Given the description of an element on the screen output the (x, y) to click on. 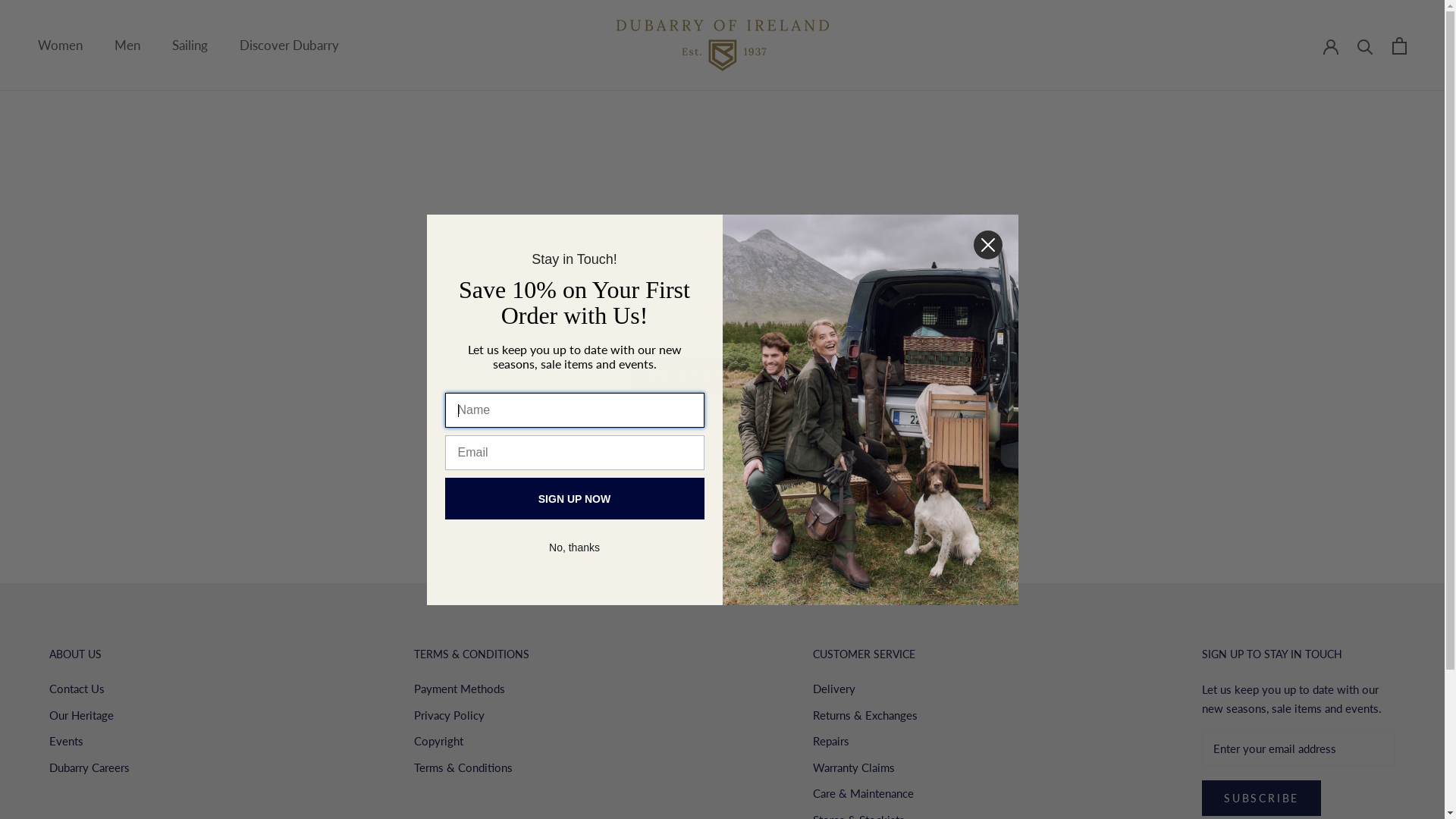
Terms & Conditions Element type: text (471, 767)
BACK TO HOMEPAGE Element type: text (722, 375)
SUBSCRIBE Element type: text (1261, 797)
Contact Us Element type: text (89, 688)
Returns & Exchanges Element type: text (864, 715)
Events Element type: text (89, 740)
Warranty Claims Element type: text (864, 767)
Discover Dubarry
Discover Dubarry Element type: text (288, 45)
Dubarry Careers Element type: text (89, 767)
Copyright Element type: text (471, 740)
Men
Men Element type: text (127, 45)
Privacy Policy Element type: text (471, 715)
Our Heritage Element type: text (89, 715)
SIGN UP NOW Element type: text (573, 498)
Women
Women Element type: text (59, 45)
No, thanks Element type: text (574, 546)
Repairs Element type: text (864, 740)
Sailing
Sailing Element type: text (189, 45)
Submit Element type: text (18, 7)
Delivery Element type: text (864, 688)
Payment Methods Element type: text (471, 688)
Care & Maintenance Element type: text (864, 793)
